Given the description of an element on the screen output the (x, y) to click on. 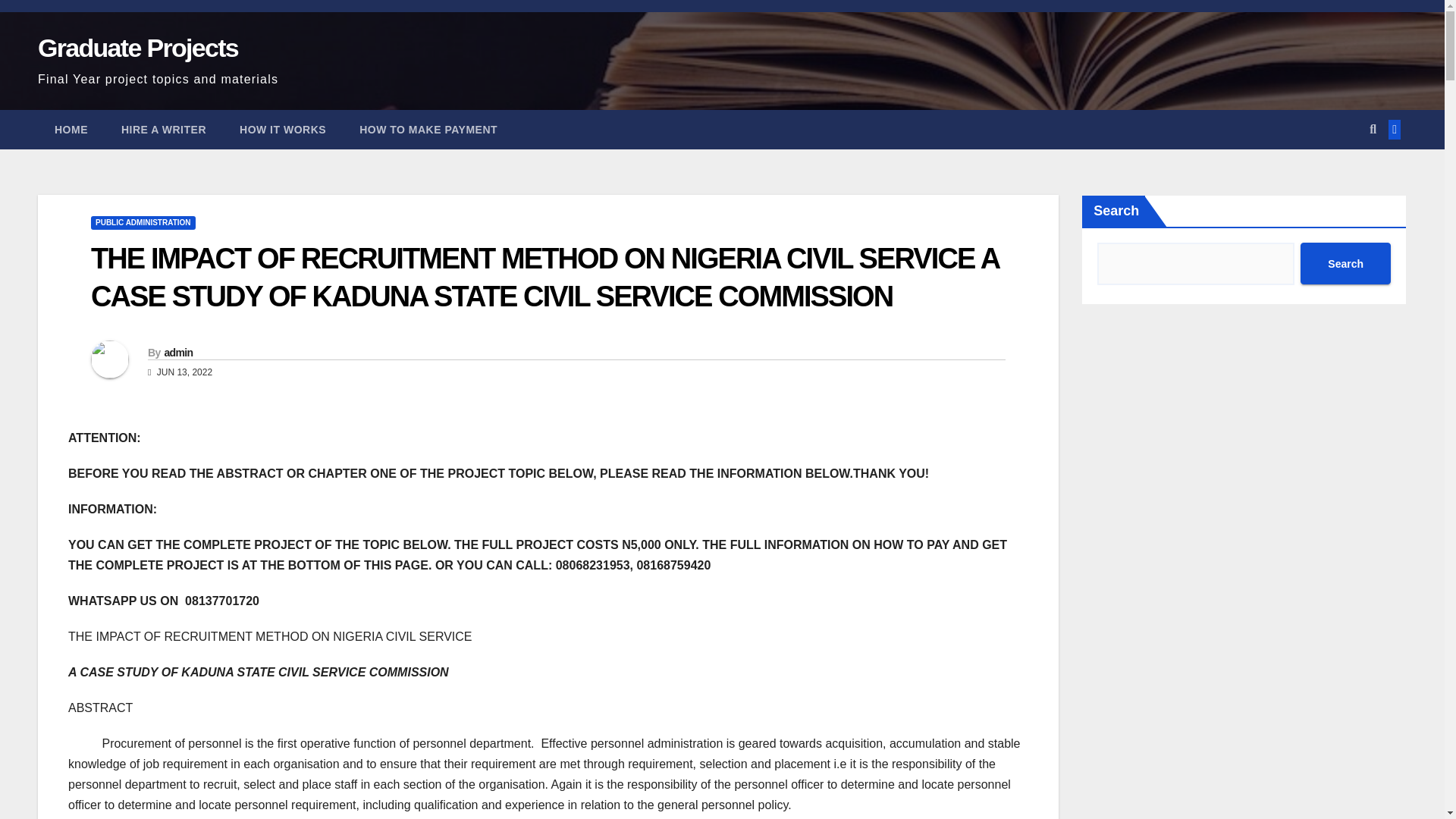
HOW IT WORKS (282, 129)
HOME (70, 129)
PUBLIC ADMINISTRATION (142, 223)
HIRE A WRITER (163, 129)
Home (70, 129)
HOW TO MAKE PAYMENT (427, 129)
admin (177, 352)
Graduate Projects (137, 47)
